Given the description of an element on the screen output the (x, y) to click on. 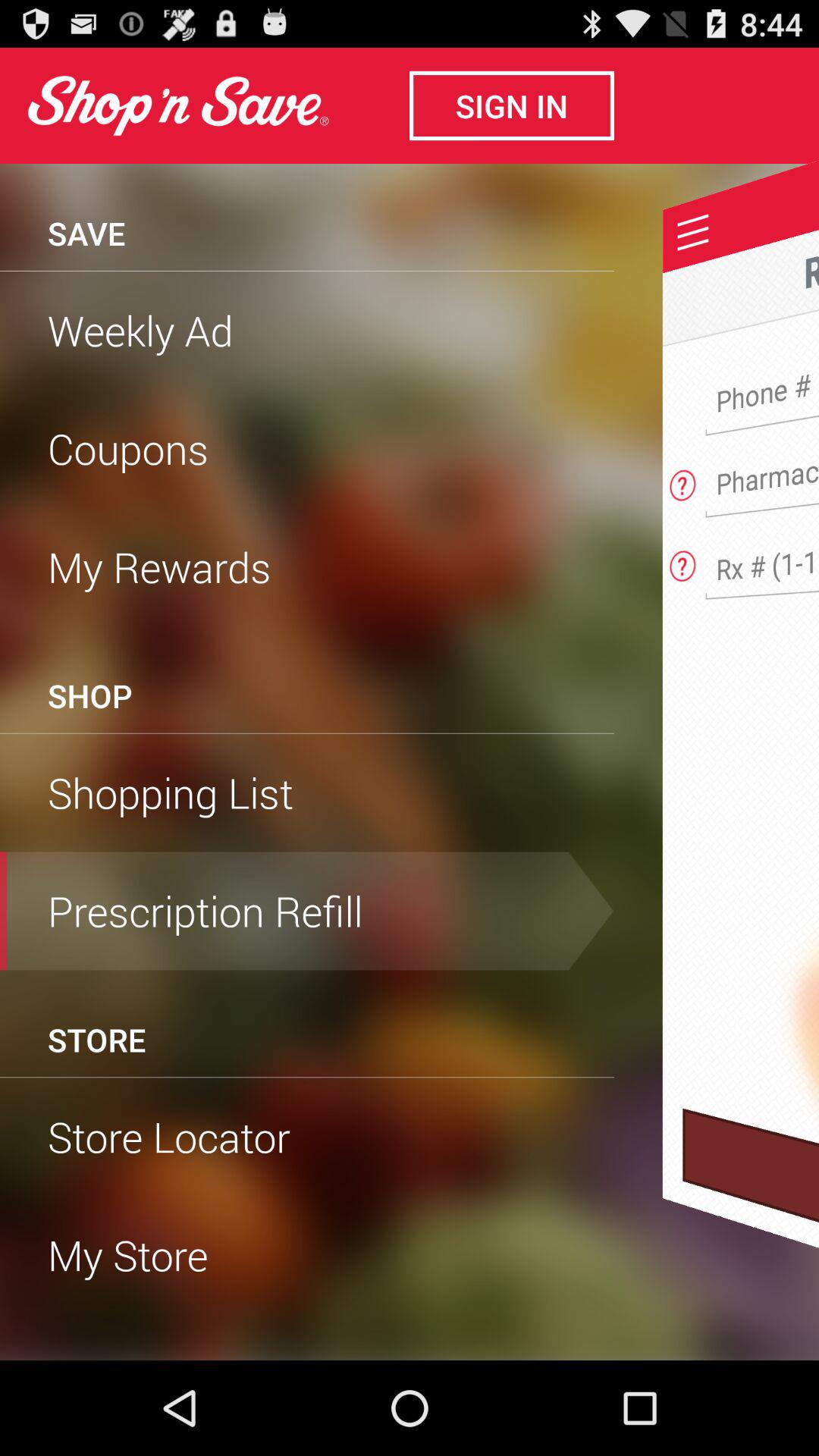
click item to the left of the refill a prescription icon (86, 232)
